Given the description of an element on the screen output the (x, y) to click on. 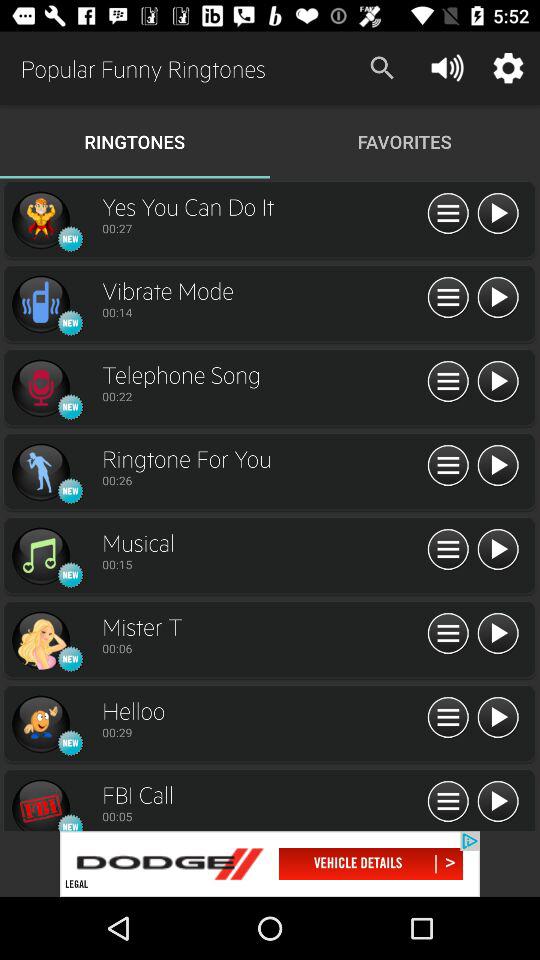
music serce (40, 804)
